Given the description of an element on the screen output the (x, y) to click on. 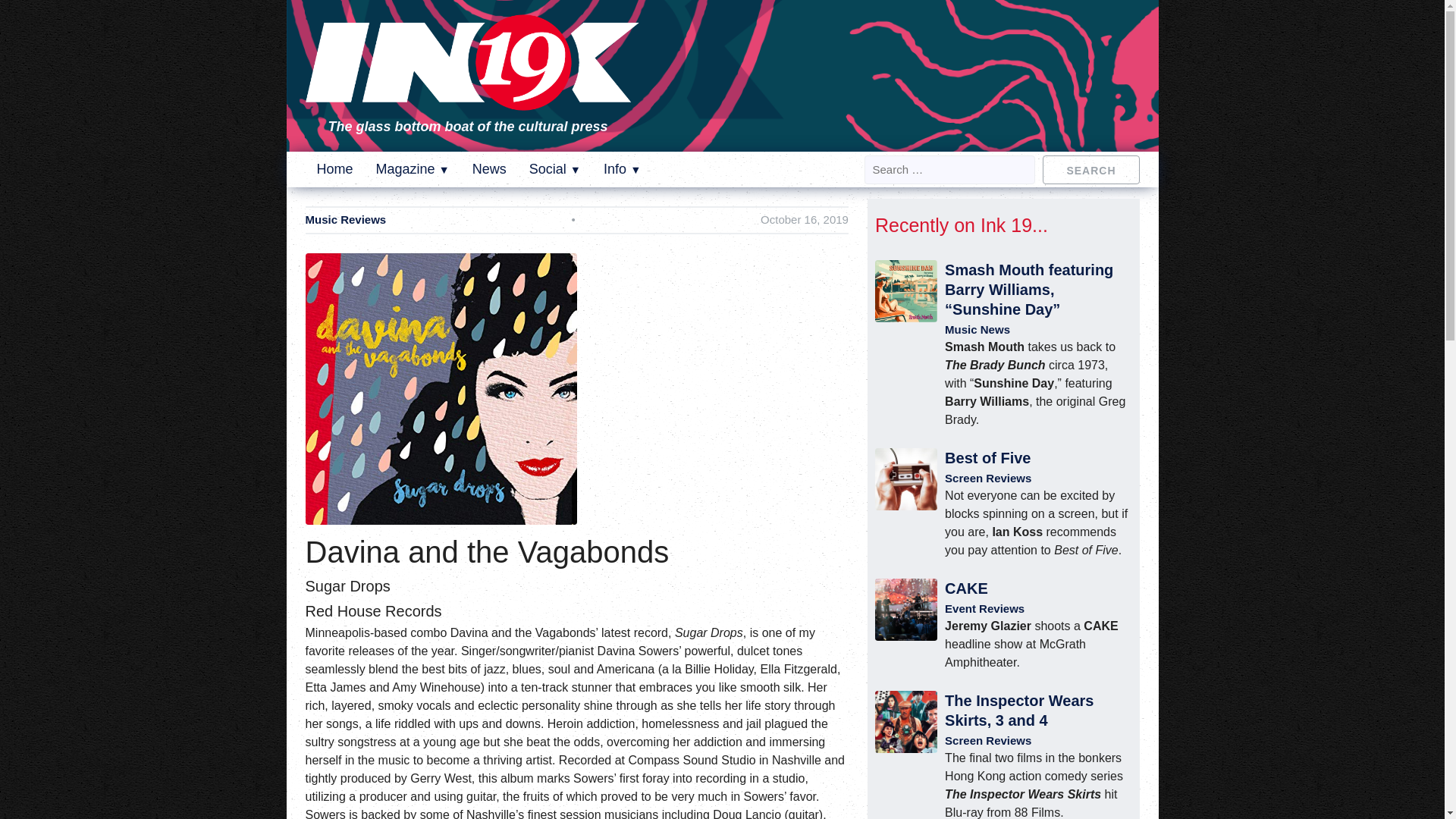
Search (1090, 168)
Search (1090, 168)
Search (1090, 168)
Social (554, 168)
News (488, 168)
Music Reviews (344, 220)
Info (622, 168)
Home (335, 168)
Magazine (412, 168)
Ink 19 (471, 100)
